Given the description of an element on the screen output the (x, y) to click on. 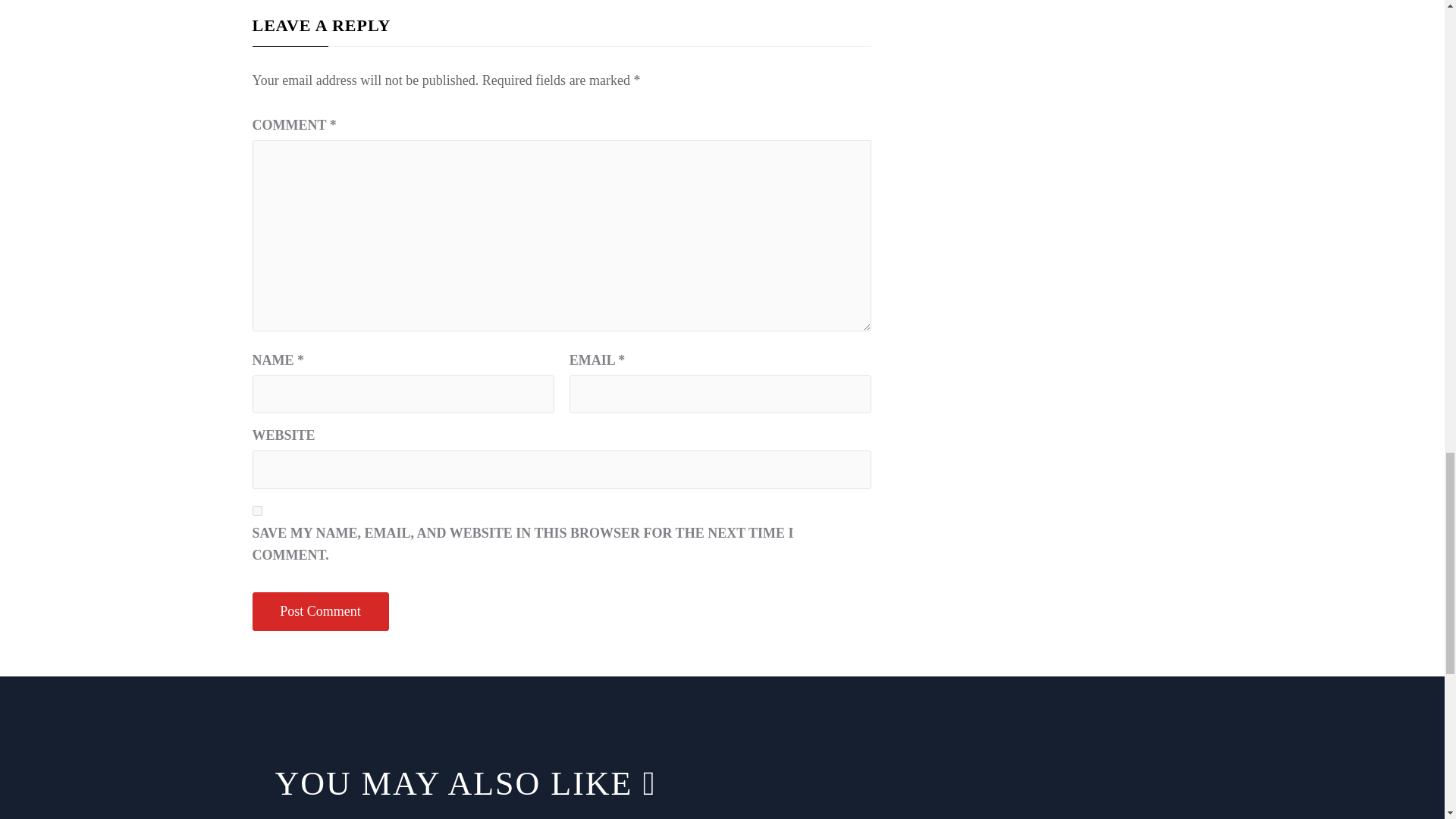
Post Comment (319, 611)
yes (256, 510)
Post Comment (319, 611)
